Given the description of an element on the screen output the (x, y) to click on. 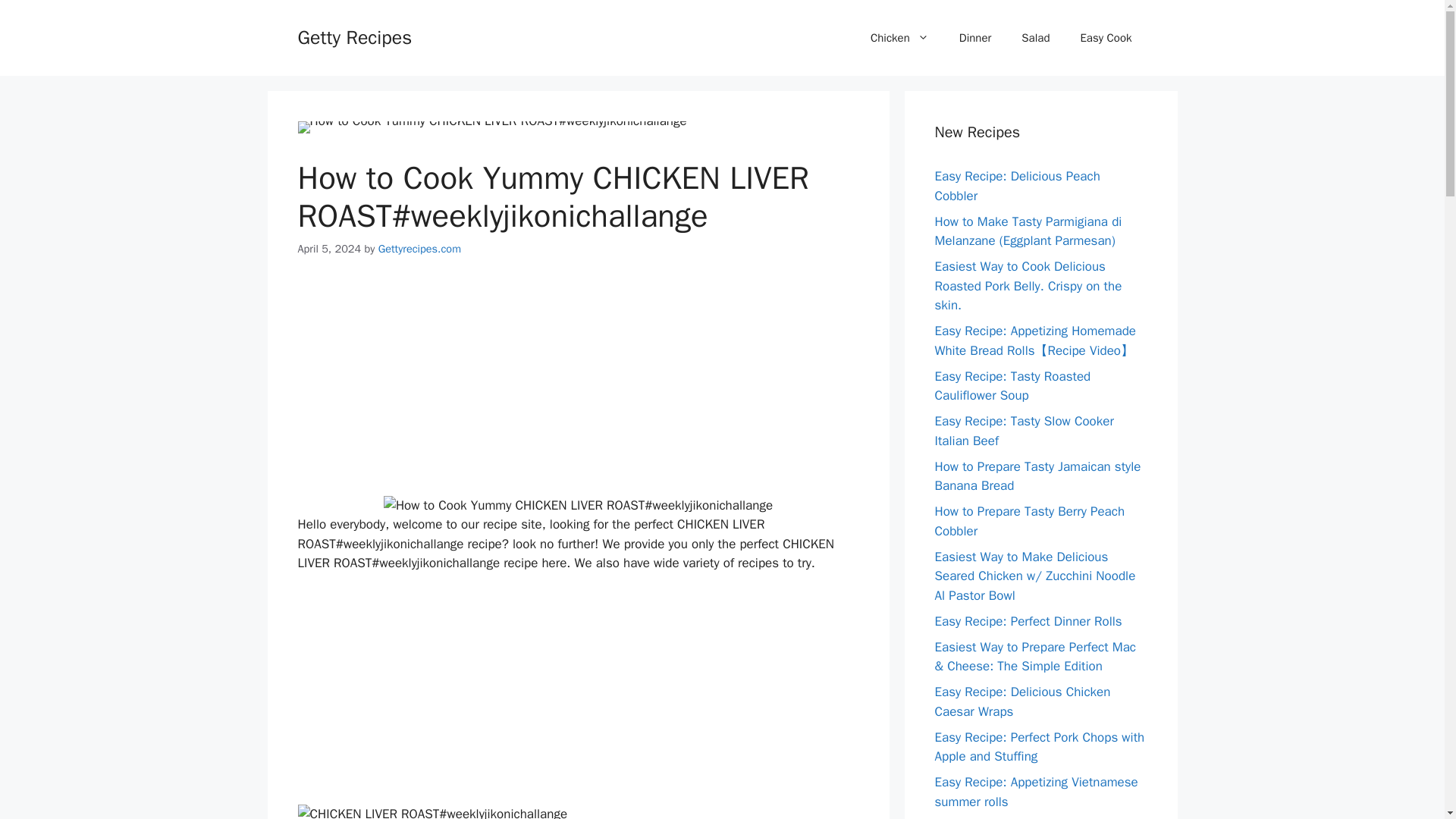
Chicken (899, 37)
Salad (1035, 37)
View all posts by Gettyrecipes.com (419, 248)
Easy Recipe: Delicious Peach Cobbler (1016, 185)
Dinner (975, 37)
Getty Recipes (354, 37)
Easy Cook (1105, 37)
Easy Recipe: Tasty Roasted Cauliflower Soup (1012, 386)
Gettyrecipes.com (419, 248)
